Given the description of an element on the screen output the (x, y) to click on. 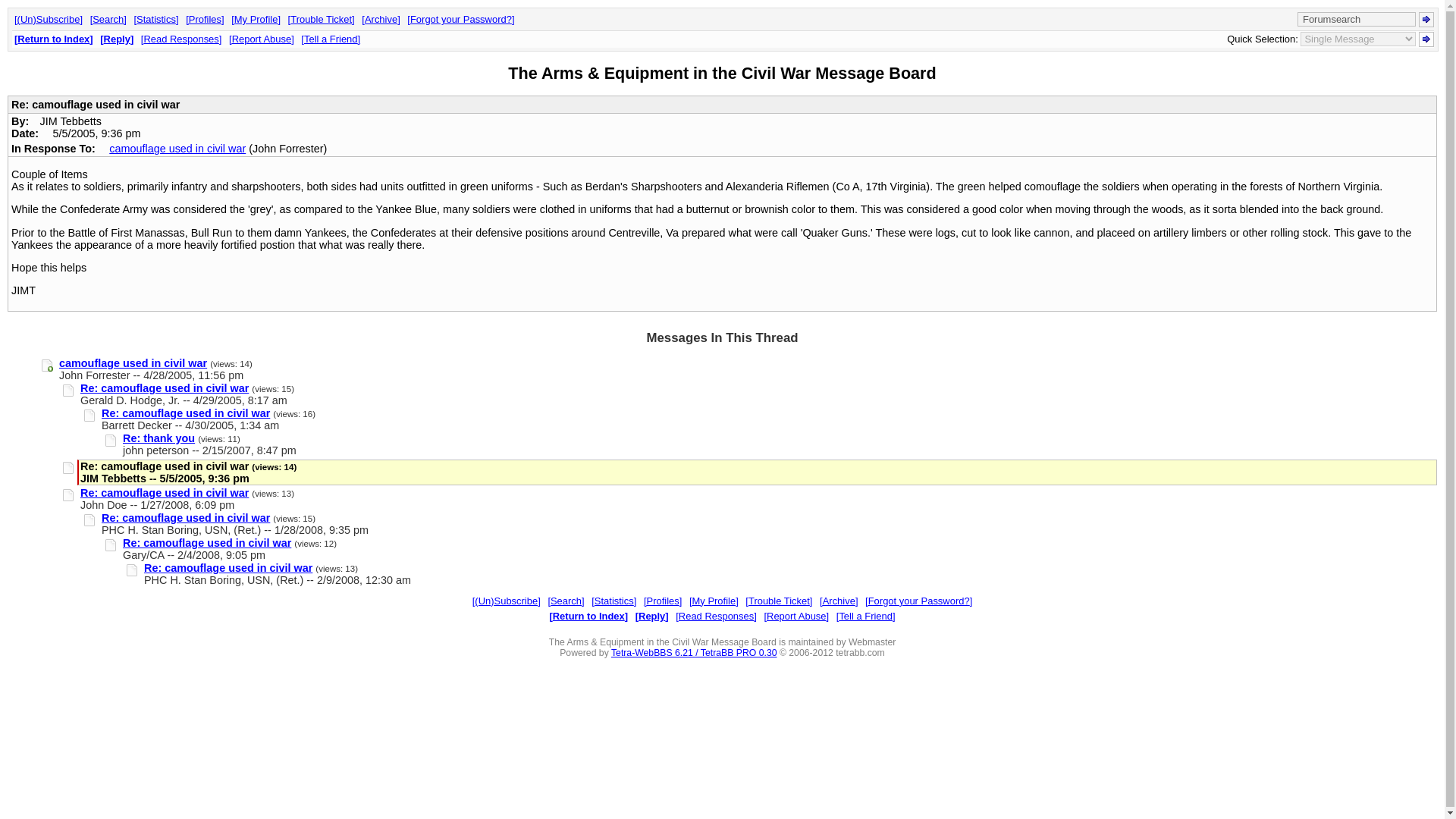
Statistics (155, 19)
Trouble Ticket (321, 19)
Archive (838, 600)
Archive (379, 19)
Return to Index (53, 39)
Re: camouflage used in civil war (164, 492)
Forgot your Password? (918, 600)
Trouble Ticket (778, 600)
